Given the description of an element on the screen output the (x, y) to click on. 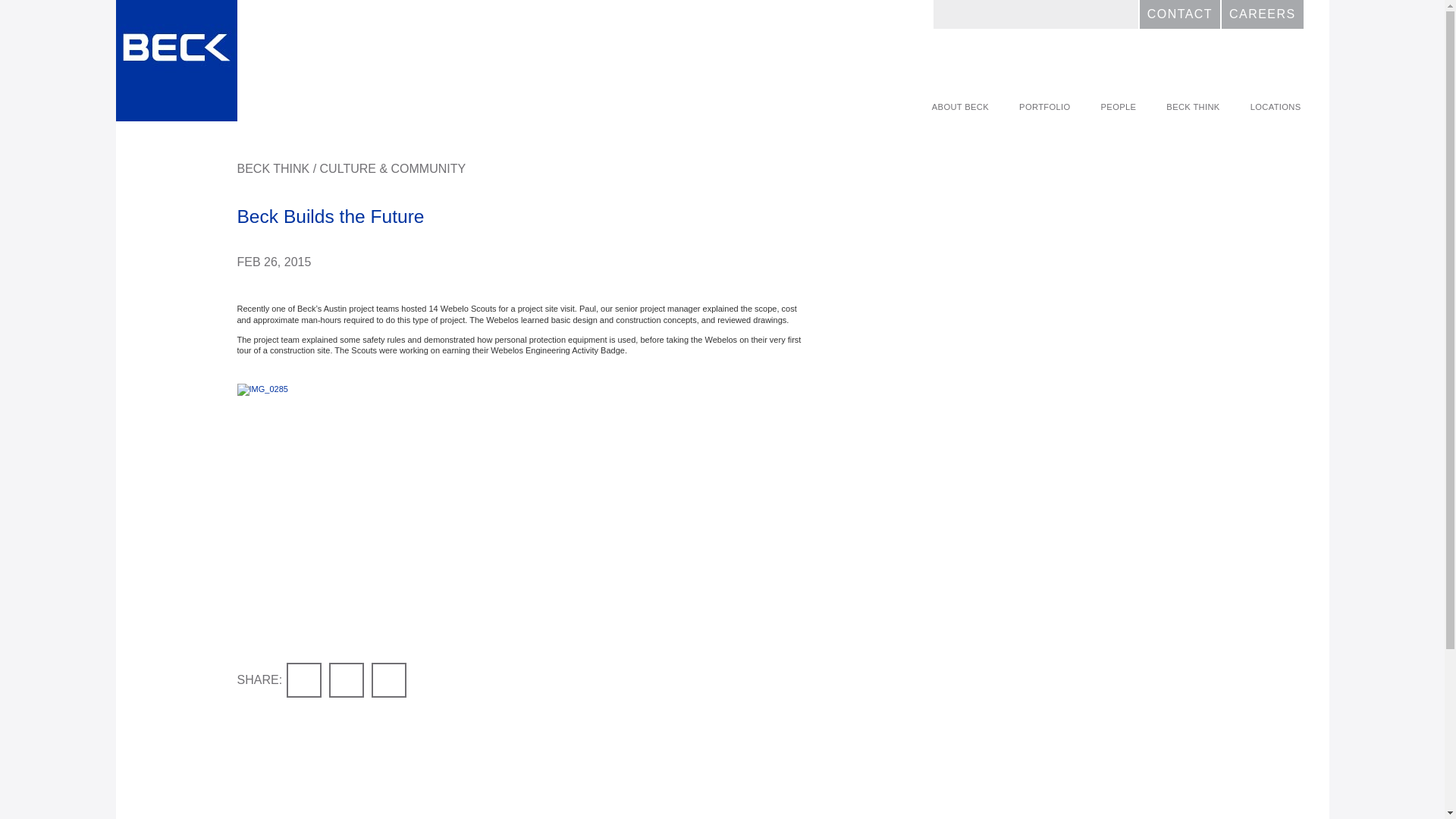
PEOPLE (1118, 107)
The Beck Group (175, 60)
LOCATIONS (1275, 107)
BECK THINK (1192, 107)
PORTFOLIO (1044, 107)
ABOUT BECK (960, 107)
Search efter: (1035, 14)
